Given the description of an element on the screen output the (x, y) to click on. 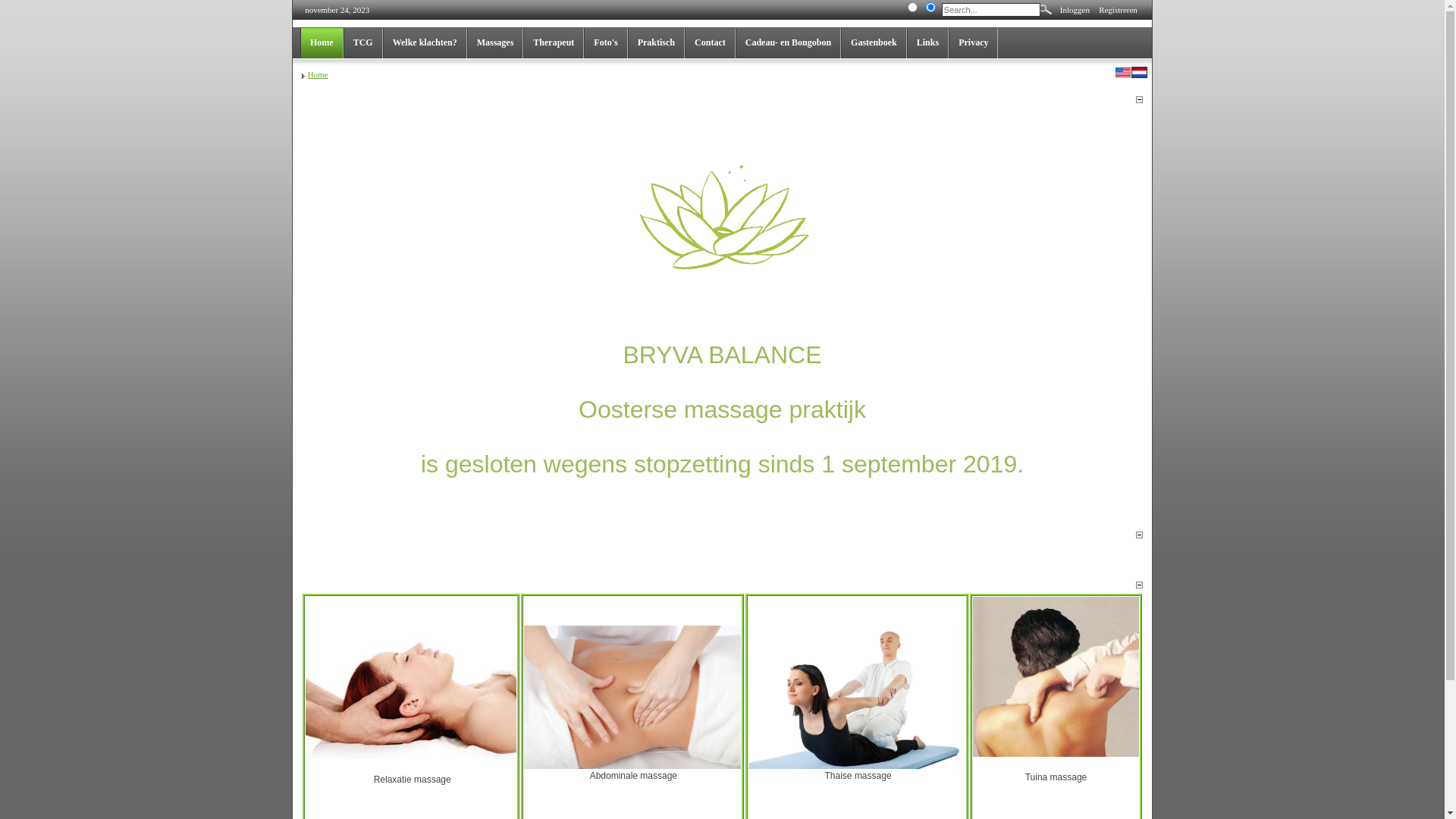
Clear search text Element type: hover (1026, 27)
Minimaliseren Element type: hover (1138, 97)
Inloggen Element type: text (1074, 8)
Doorzoek het web met Google Element type: hover (911, 8)
Minimaliseren Element type: hover (1138, 532)
Doorzoek de website Element type: hover (930, 8)
Nederlands (Nederland) Element type: hover (1139, 73)
Minimaliseren Element type: hover (1138, 581)
Home Element type: text (317, 73)
Minimaliseren Element type: hover (1138, 531)
English (United States) Element type: hover (1122, 73)
Minimaliseren Element type: hover (1138, 582)
Registreren Element type: text (1117, 8)
Minimaliseren Element type: hover (1138, 95)
